Given the description of an element on the screen output the (x, y) to click on. 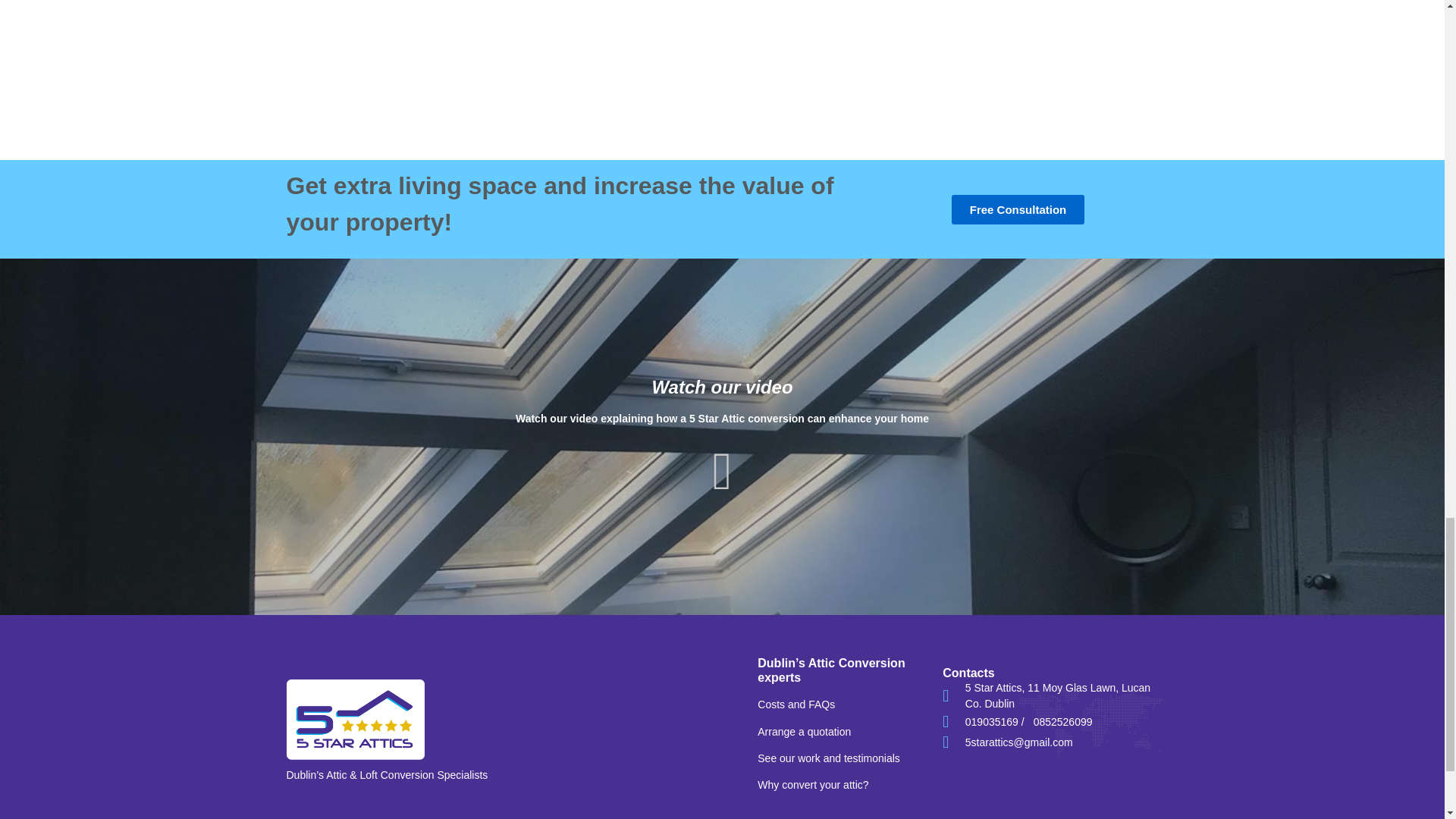
See our work and testimonials (828, 758)
Free Consultation (1018, 209)
Arrange a quotation (803, 731)
Costs and FAQs (795, 704)
0852526099 (1062, 722)
Why convert your attic? (812, 784)
